Given the description of an element on the screen output the (x, y) to click on. 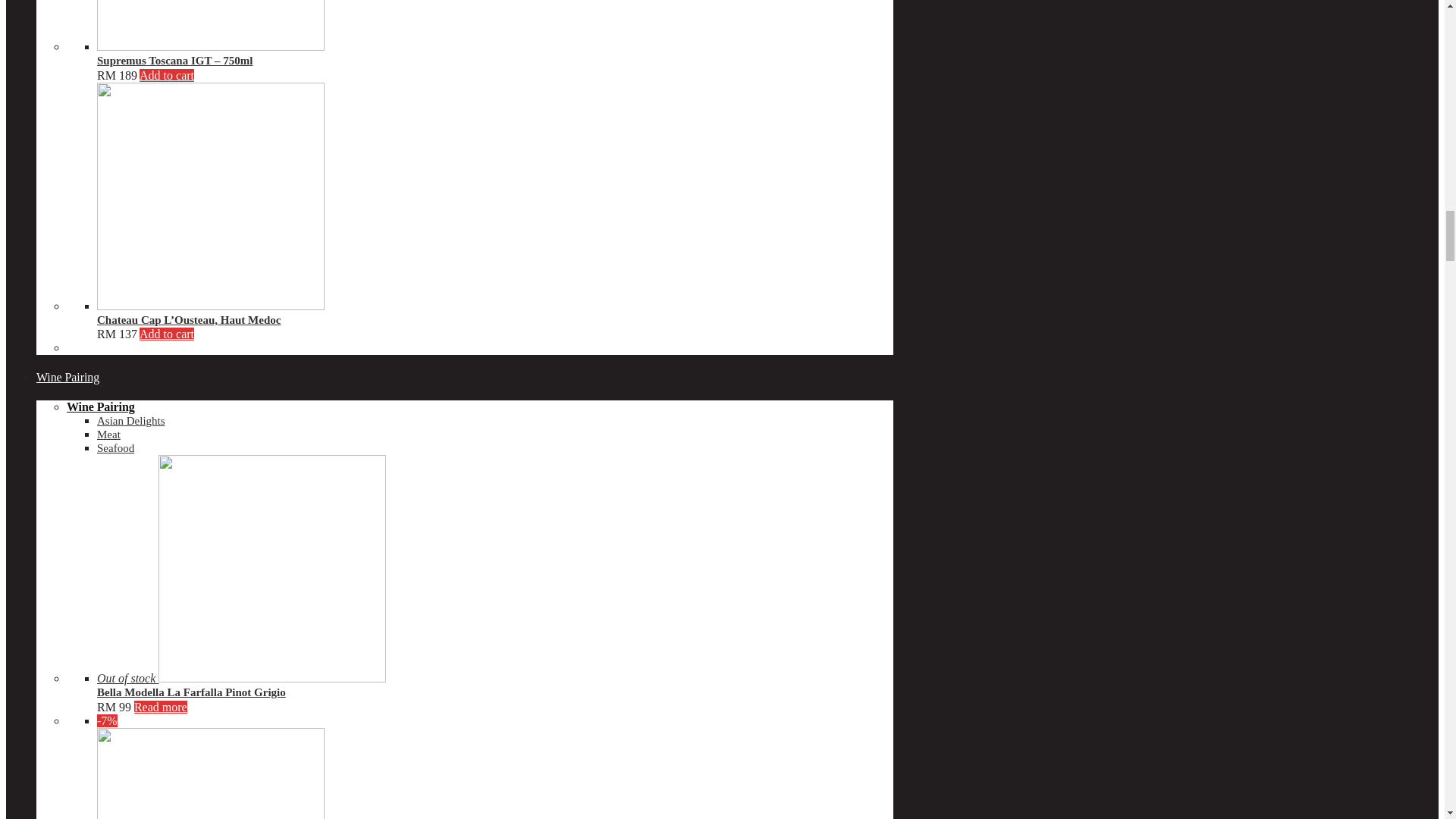
Out of stock (241, 677)
Bella Modella La Farfalla Pinot Grigio (191, 692)
Wine Pairing (100, 406)
Add to cart (166, 333)
Add to cart (166, 74)
Asian Delights (131, 420)
Seafood (115, 448)
Meat (108, 434)
Wine Pairing (67, 377)
Read more (160, 707)
